Given the description of an element on the screen output the (x, y) to click on. 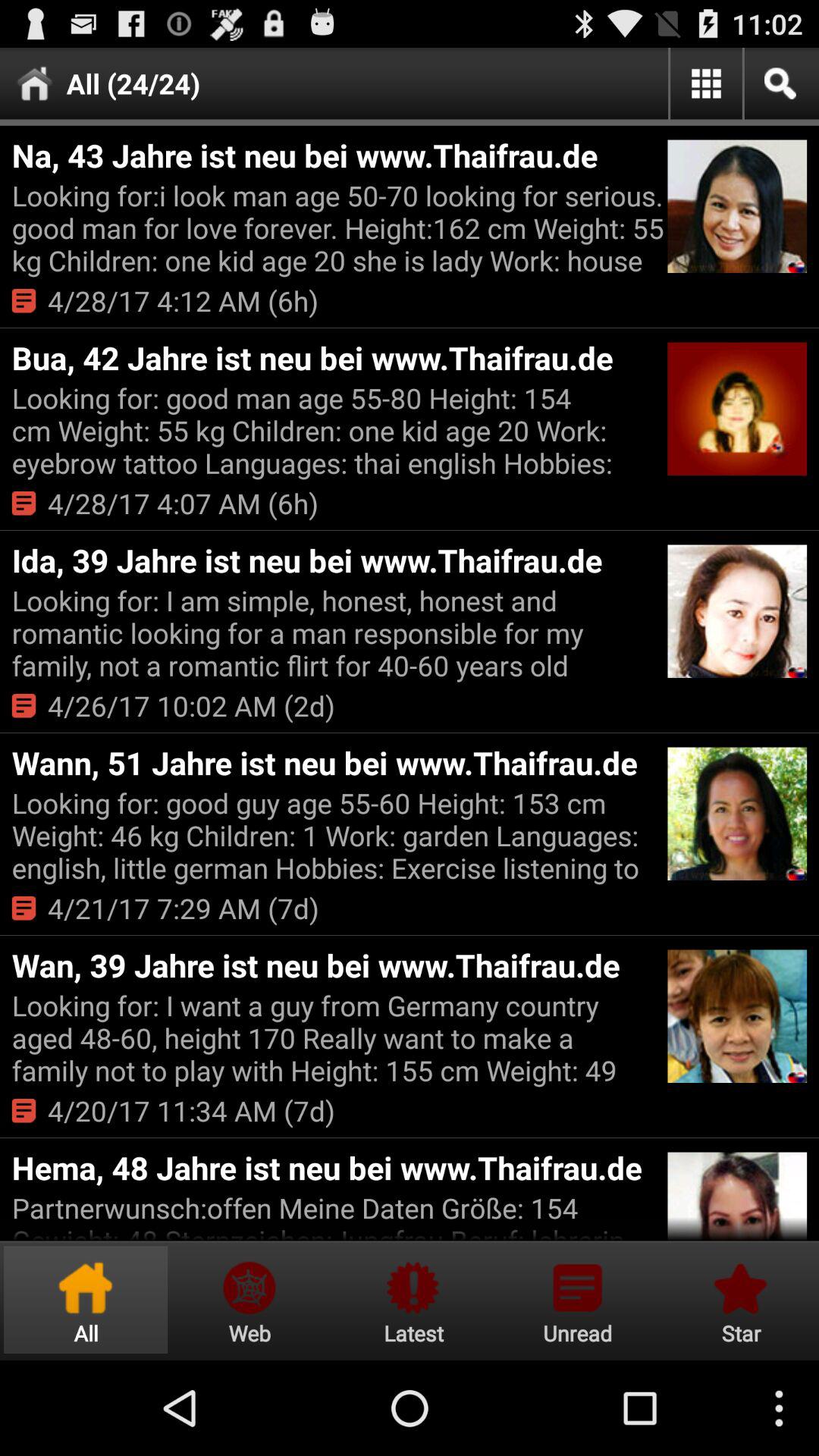
notification (413, 1299)
